Given the description of an element on the screen output the (x, y) to click on. 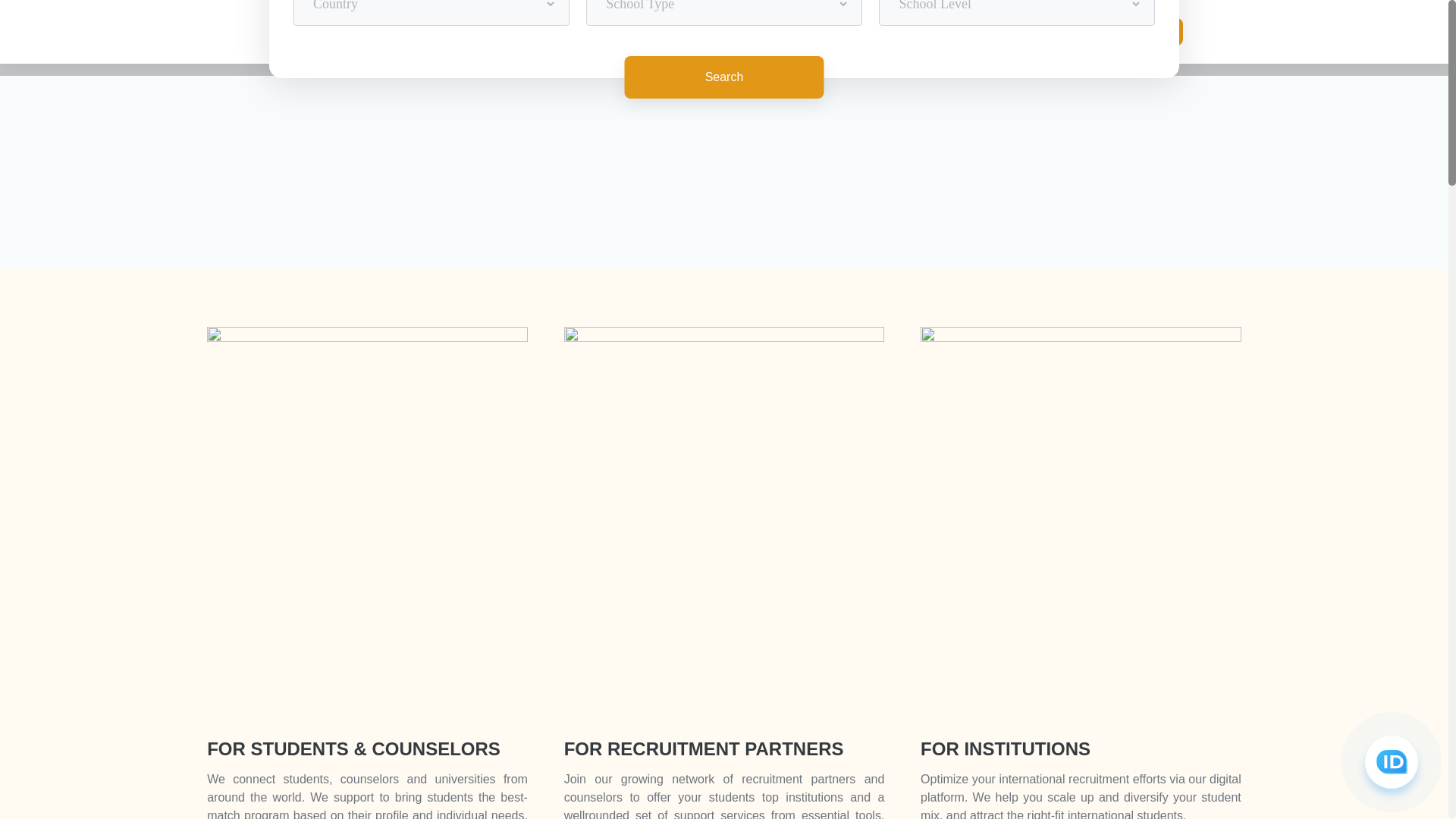
May I help you ? Element type: text (1391, 761)
Home Element type: text (635, 31)
SmartApply Element type: text (797, 31)
Search Element type: text (724, 77)
Contact Element type: text (974, 31)
Our institutions Element type: text (707, 31)
News and Events Element type: text (891, 31)
Apply now! Element type: text (1142, 31)
